Given the description of an element on the screen output the (x, y) to click on. 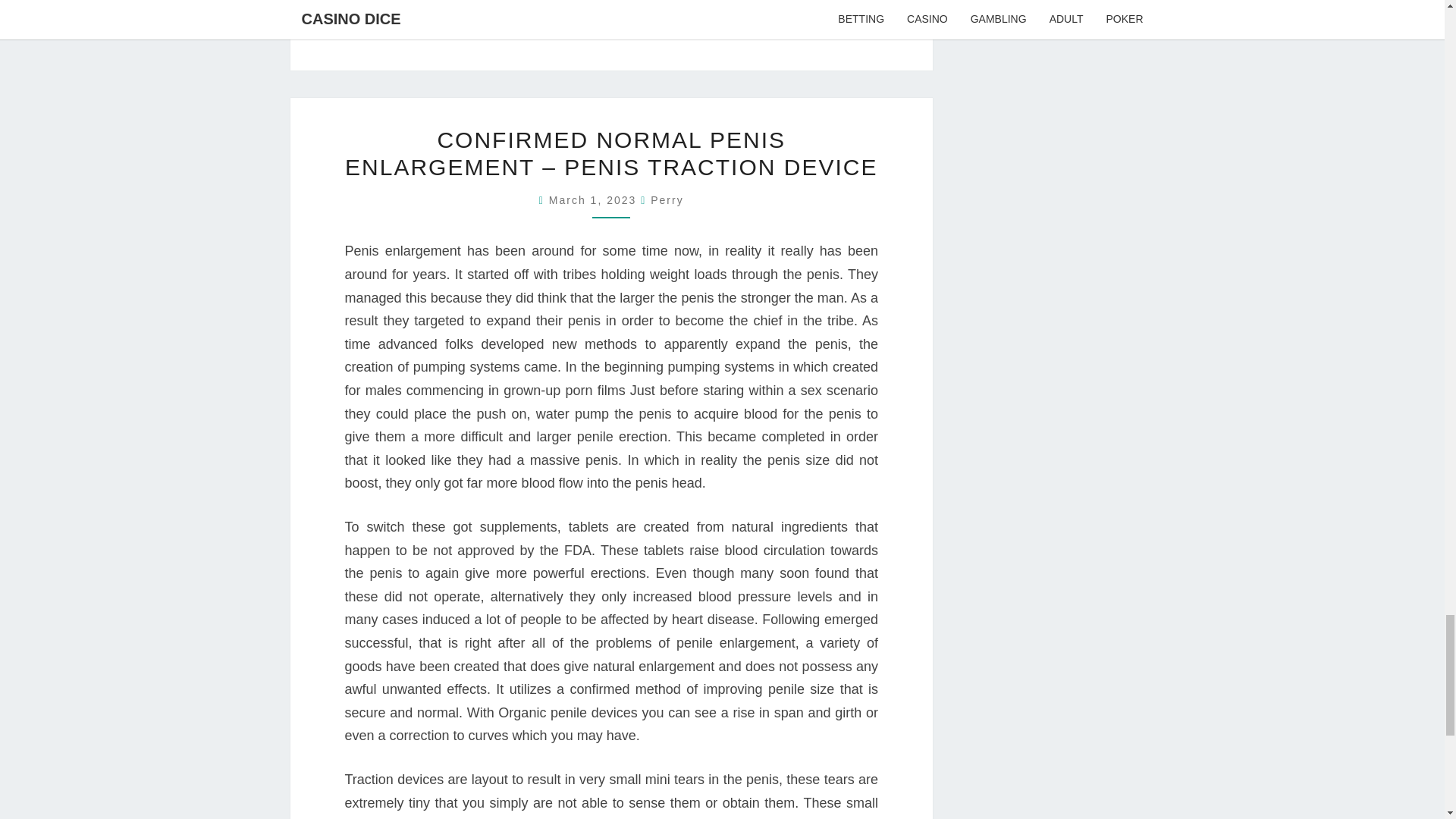
5:49 am (594, 200)
View all posts by Perry (666, 200)
Perry (666, 200)
March 1, 2023 (594, 200)
